Given the description of an element on the screen output the (x, y) to click on. 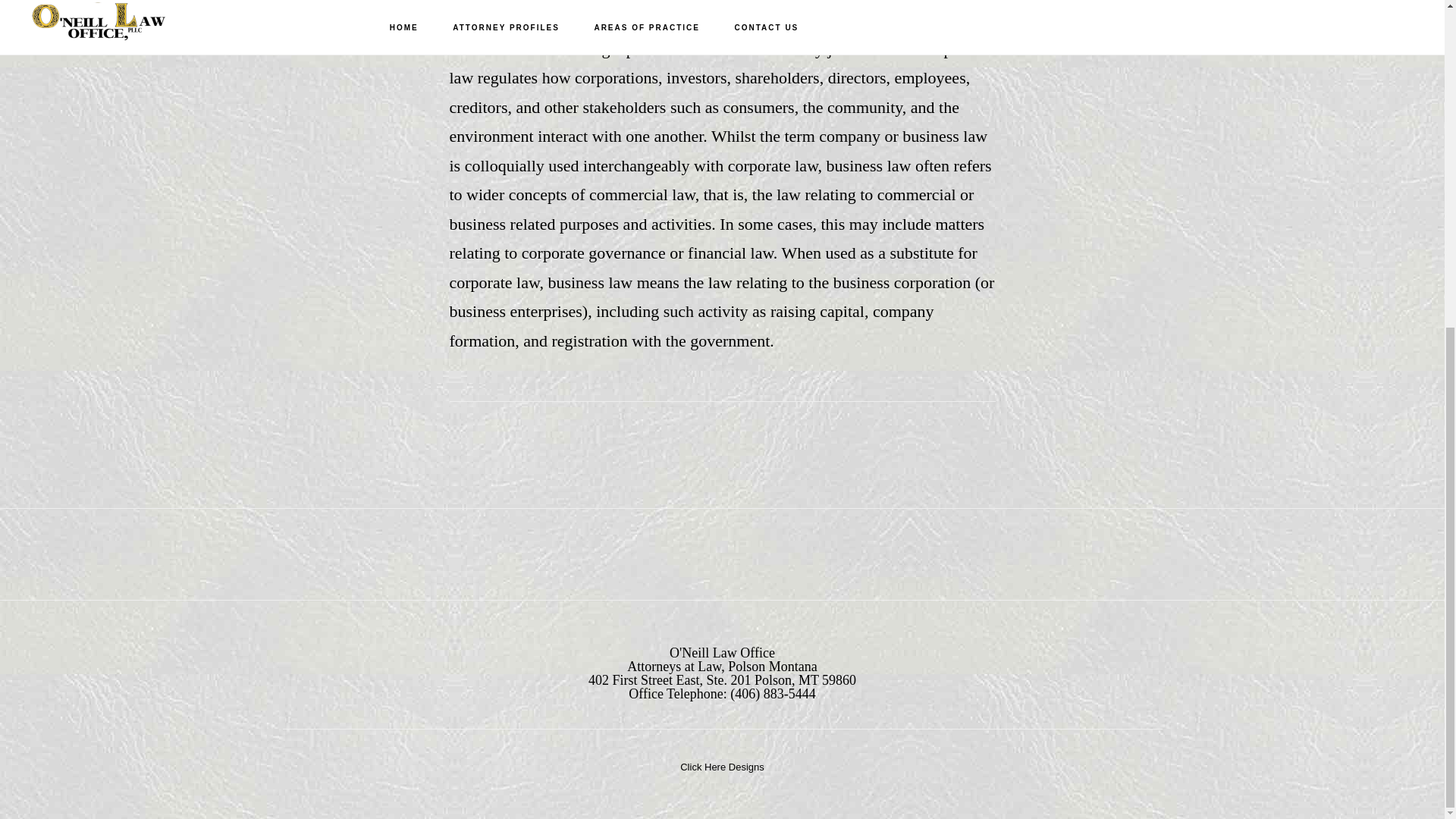
Click Here Designs (721, 764)
